Given the description of an element on the screen output the (x, y) to click on. 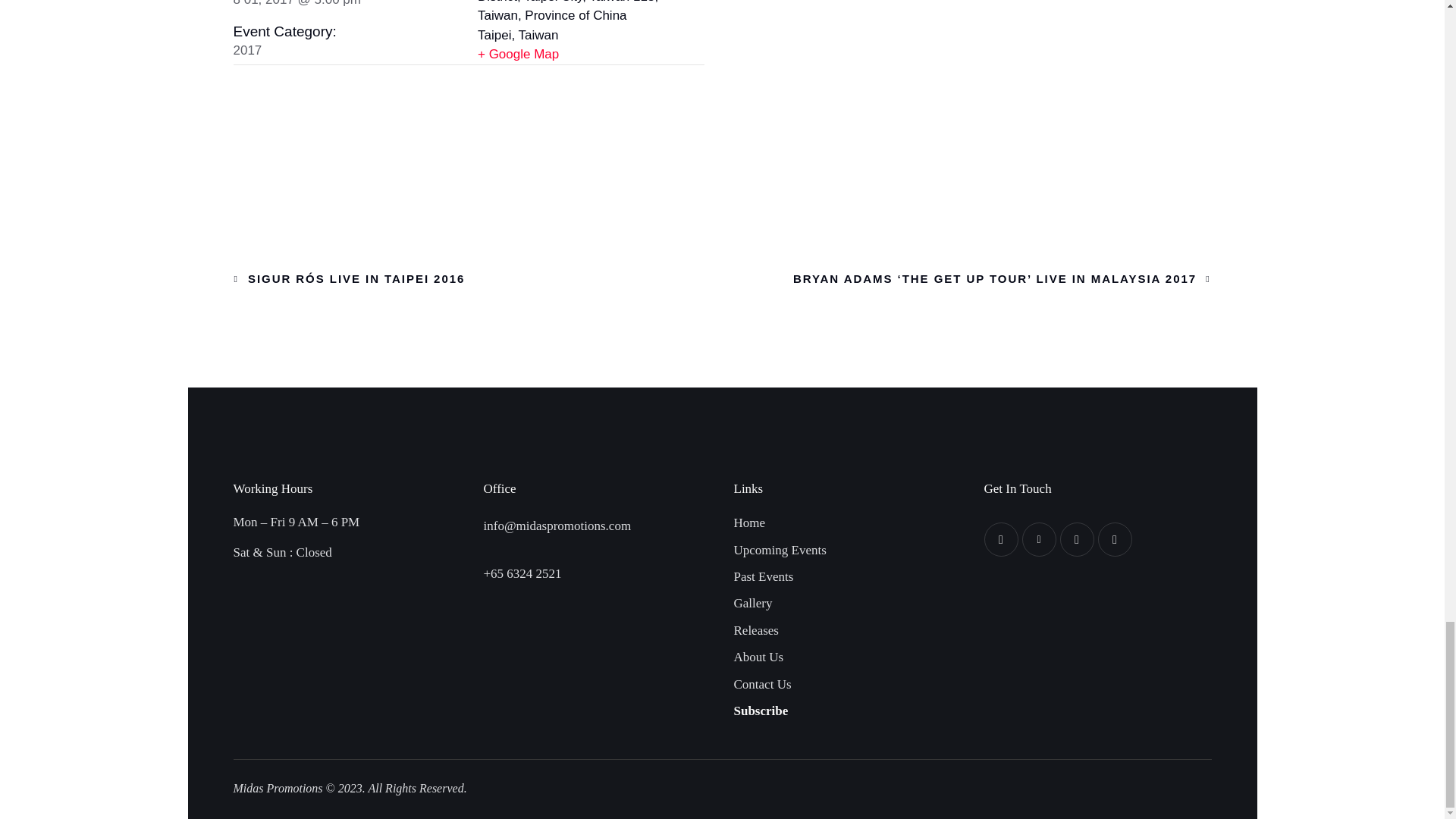
2017-01-08 (296, 3)
2017 (247, 50)
Click to view a Google Map (590, 54)
